Given the description of an element on the screen output the (x, y) to click on. 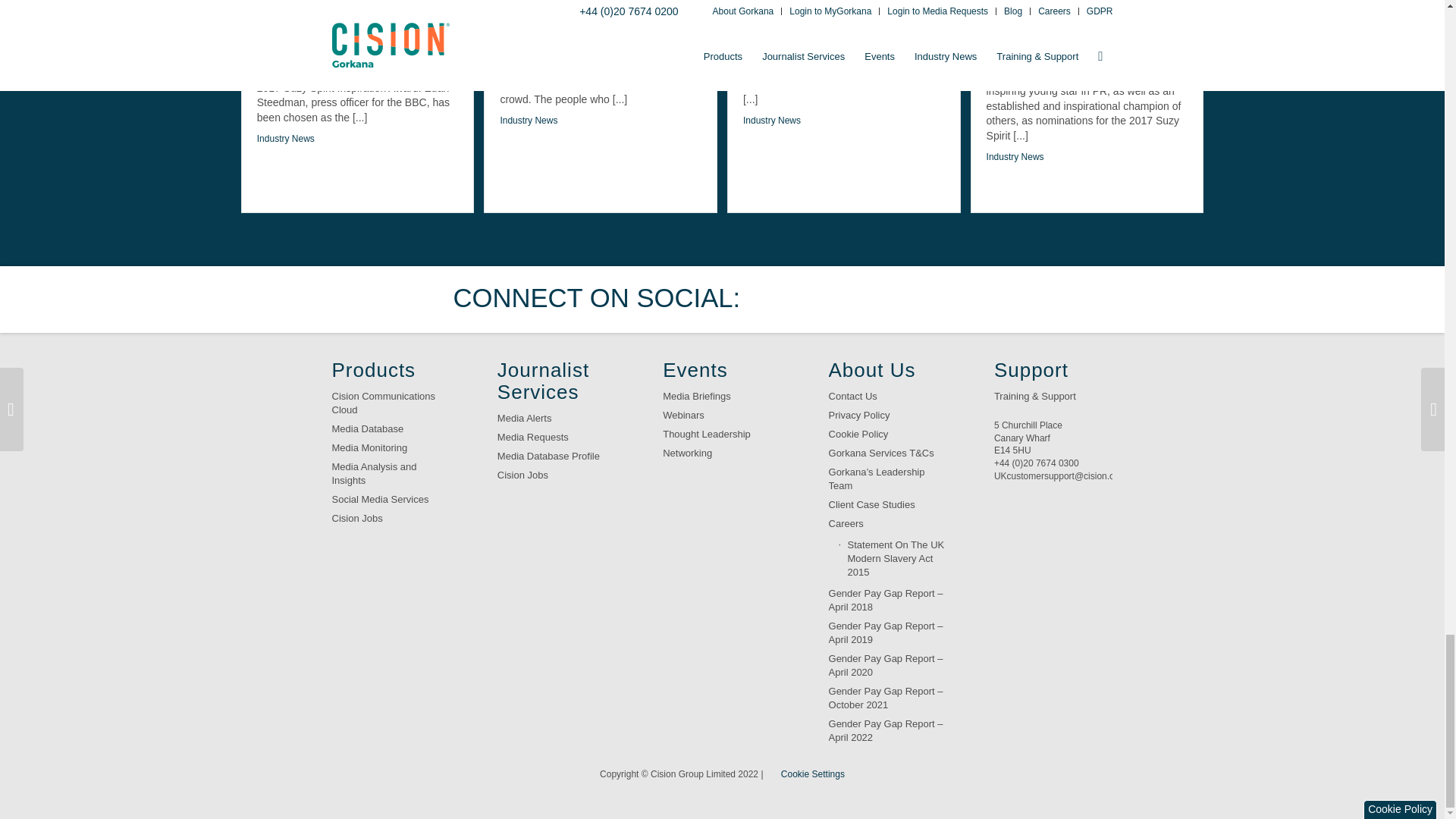
connect on Facebook (824, 298)
connect on Linkedin (872, 298)
connect on Twitter (777, 298)
connect on YouTube (918, 298)
connect on Instagram (966, 298)
